Given the description of an element on the screen output the (x, y) to click on. 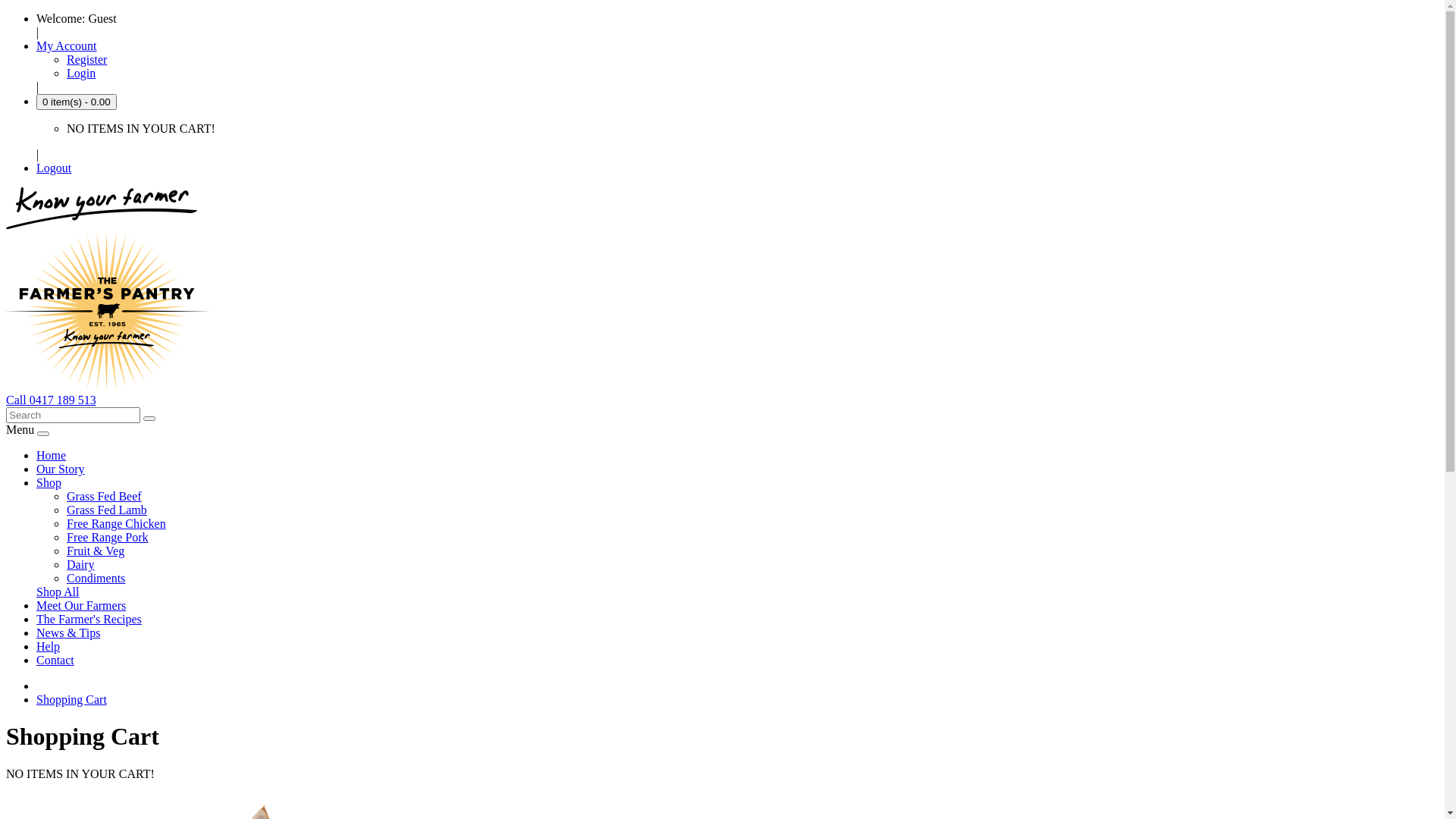
Call 0417 189 513 Element type: text (51, 399)
Register Element type: text (86, 59)
Free Range Pork Element type: text (107, 536)
Free Range Chicken Element type: text (116, 523)
My Account Element type: text (66, 45)
Our Story Element type: text (60, 468)
Dairy Element type: text (80, 564)
Home Element type: text (50, 454)
Meet Our Farmers Element type: text (80, 605)
Logout Element type: text (53, 167)
Shopping Cart Element type: text (71, 699)
Grass Fed Beef Element type: text (103, 495)
Condiments Element type: text (95, 577)
Fruit & Veg Element type: text (95, 550)
News & Tips Element type: text (68, 632)
Contact Element type: text (55, 659)
Shop Element type: text (48, 482)
Farmer's Pantry Element type: hover (107, 311)
Shop All Element type: text (57, 591)
Grass Fed Lamb Element type: text (106, 509)
0 item(s) - 0.00 Element type: text (76, 101)
Help Element type: text (47, 646)
The Farmer's Recipes Element type: text (88, 618)
Login Element type: text (80, 72)
